Given the description of an element on the screen output the (x, y) to click on. 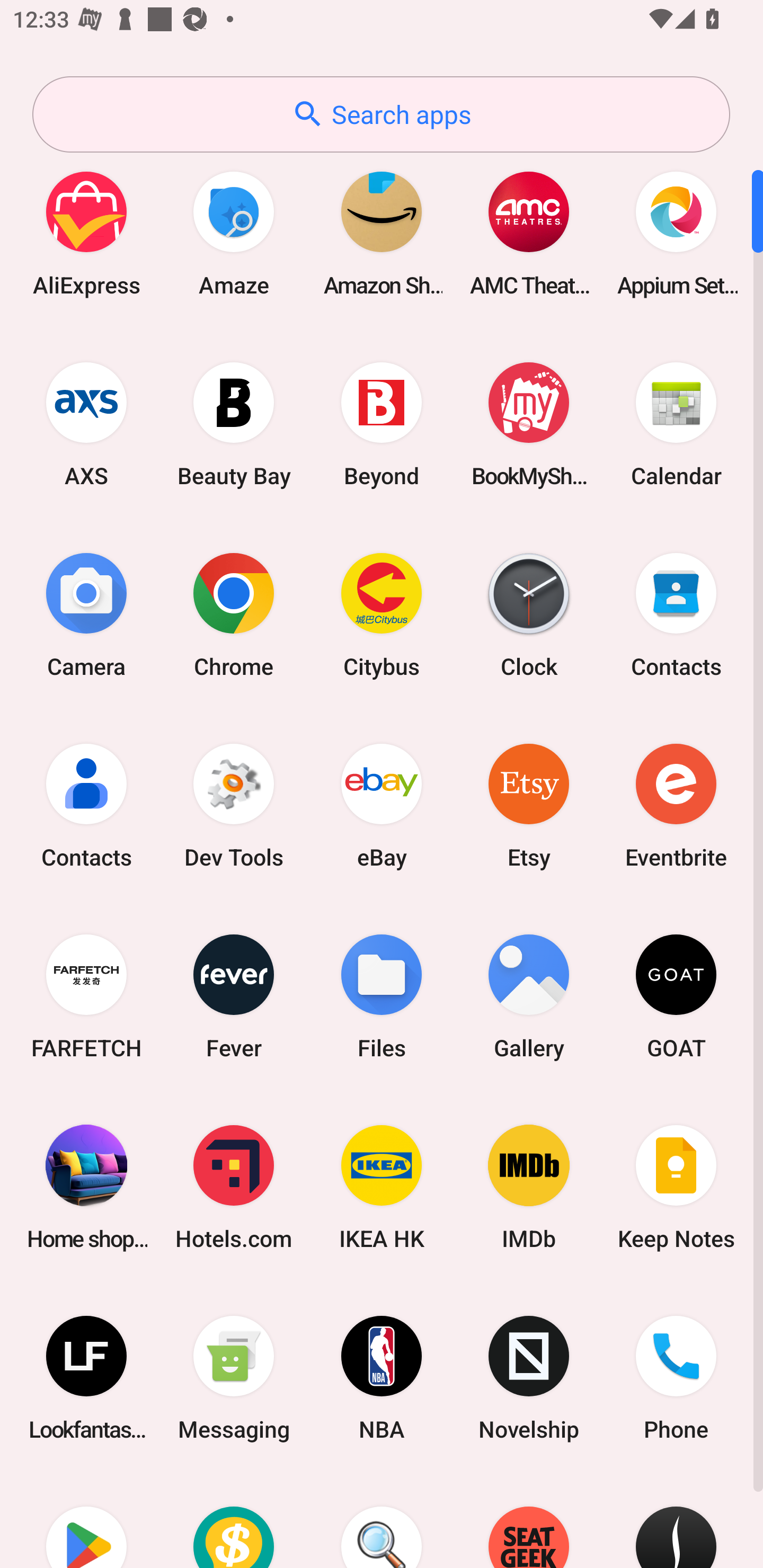
  Search apps (381, 114)
AliExpress (86, 233)
Amaze (233, 233)
Amazon Shopping (381, 233)
AMC Theatres (528, 233)
Appium Settings (676, 233)
AXS (86, 424)
Beauty Bay (233, 424)
Beyond (381, 424)
BookMyShow (528, 424)
Calendar (676, 424)
Camera (86, 614)
Chrome (233, 614)
Citybus (381, 614)
Clock (528, 614)
Contacts (676, 614)
Contacts (86, 805)
Dev Tools (233, 805)
eBay (381, 805)
Etsy (528, 805)
Eventbrite (676, 805)
FARFETCH (86, 996)
Fever (233, 996)
Files (381, 996)
Gallery (528, 996)
GOAT (676, 996)
Home shopping (86, 1186)
Hotels.com (233, 1186)
IKEA HK (381, 1186)
IMDb (528, 1186)
Keep Notes (676, 1186)
Lookfantastic (86, 1377)
Messaging (233, 1377)
NBA (381, 1377)
Novelship (528, 1377)
Phone (676, 1377)
